Given the description of an element on the screen output the (x, y) to click on. 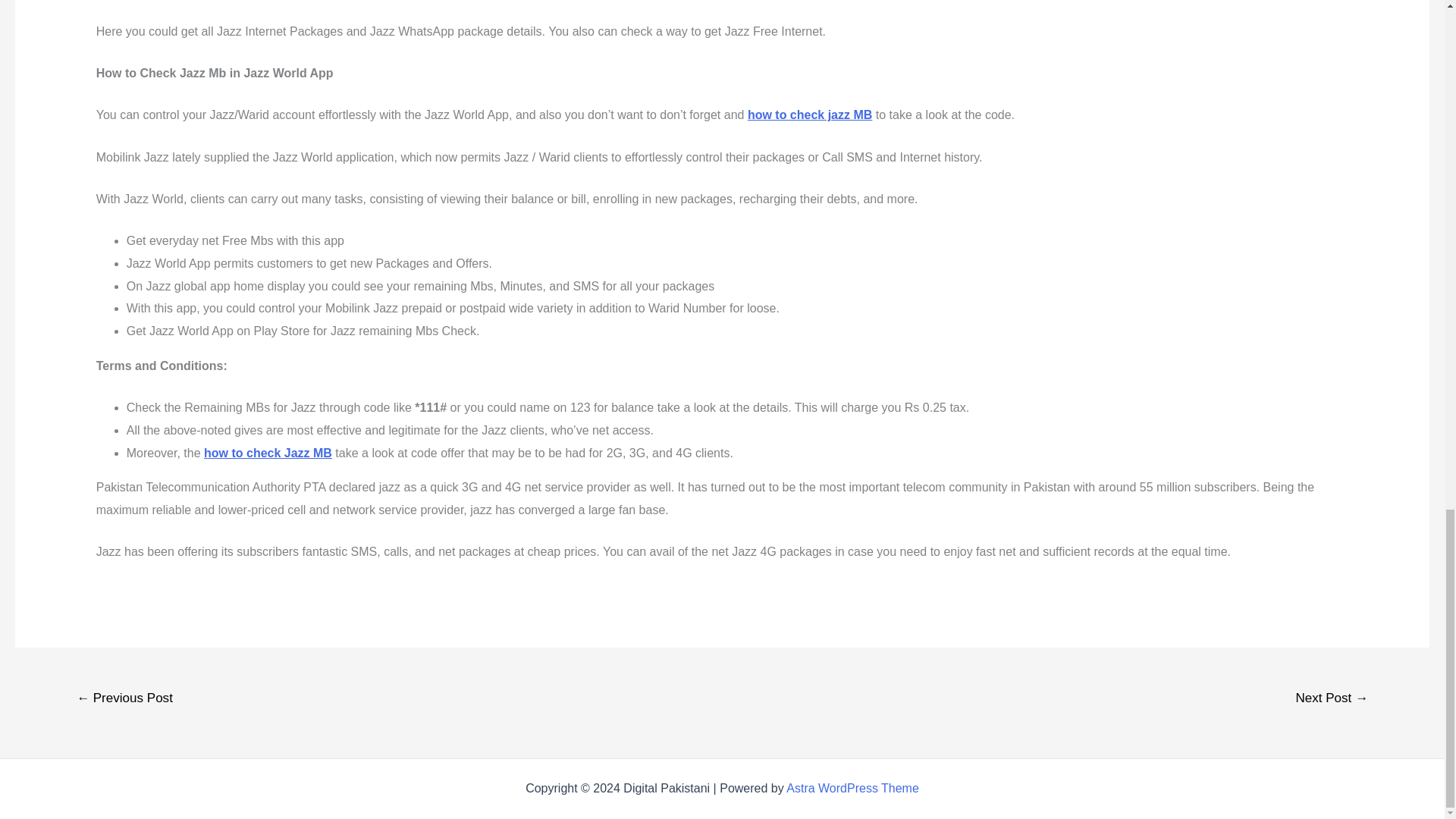
how to check Jazz MB (267, 452)
Astra WordPress Theme (852, 788)
how to check jazz MB (810, 114)
